Given the description of an element on the screen output the (x, y) to click on. 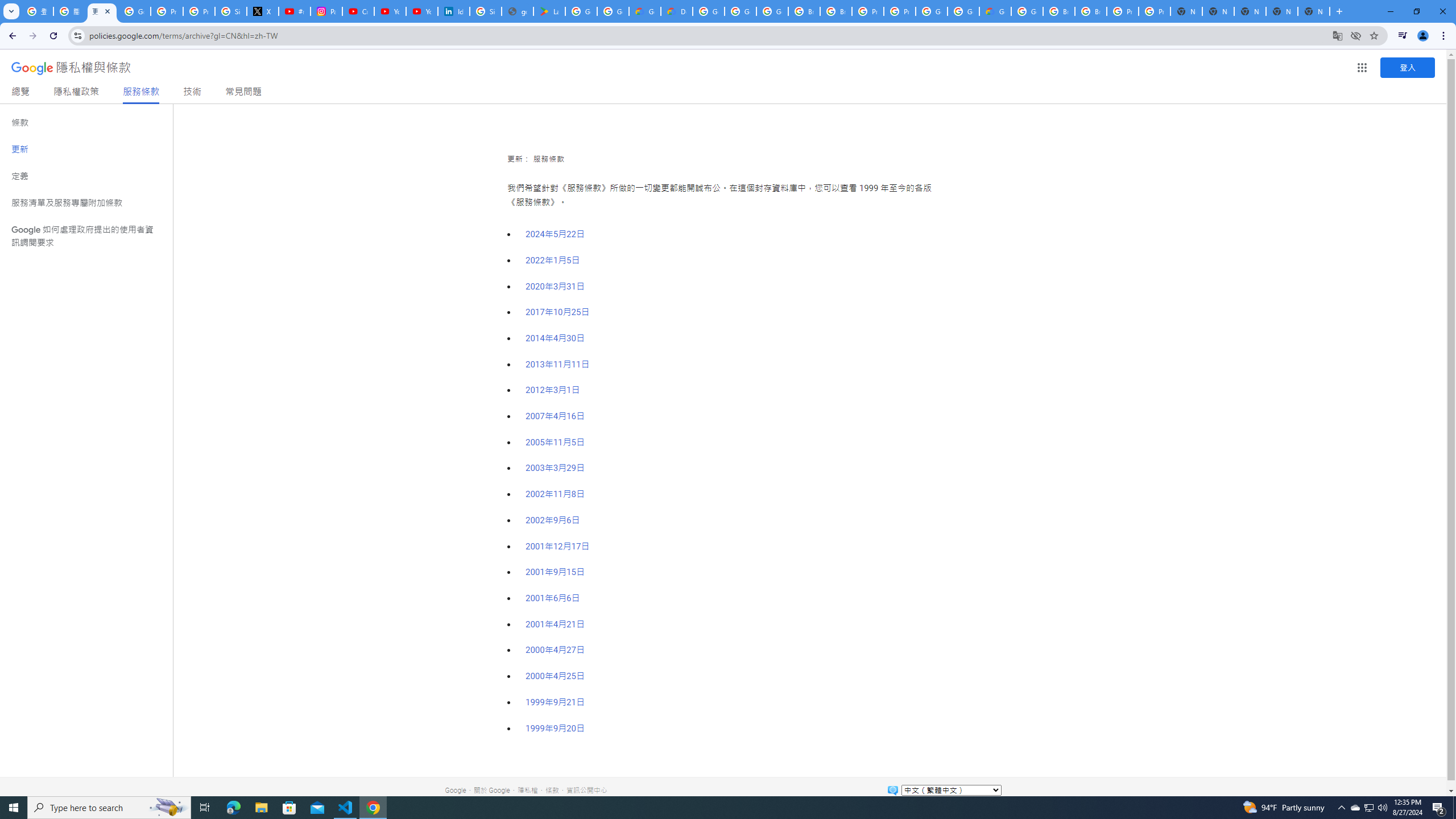
Government | Google Cloud (644, 11)
